Given the description of an element on the screen output the (x, y) to click on. 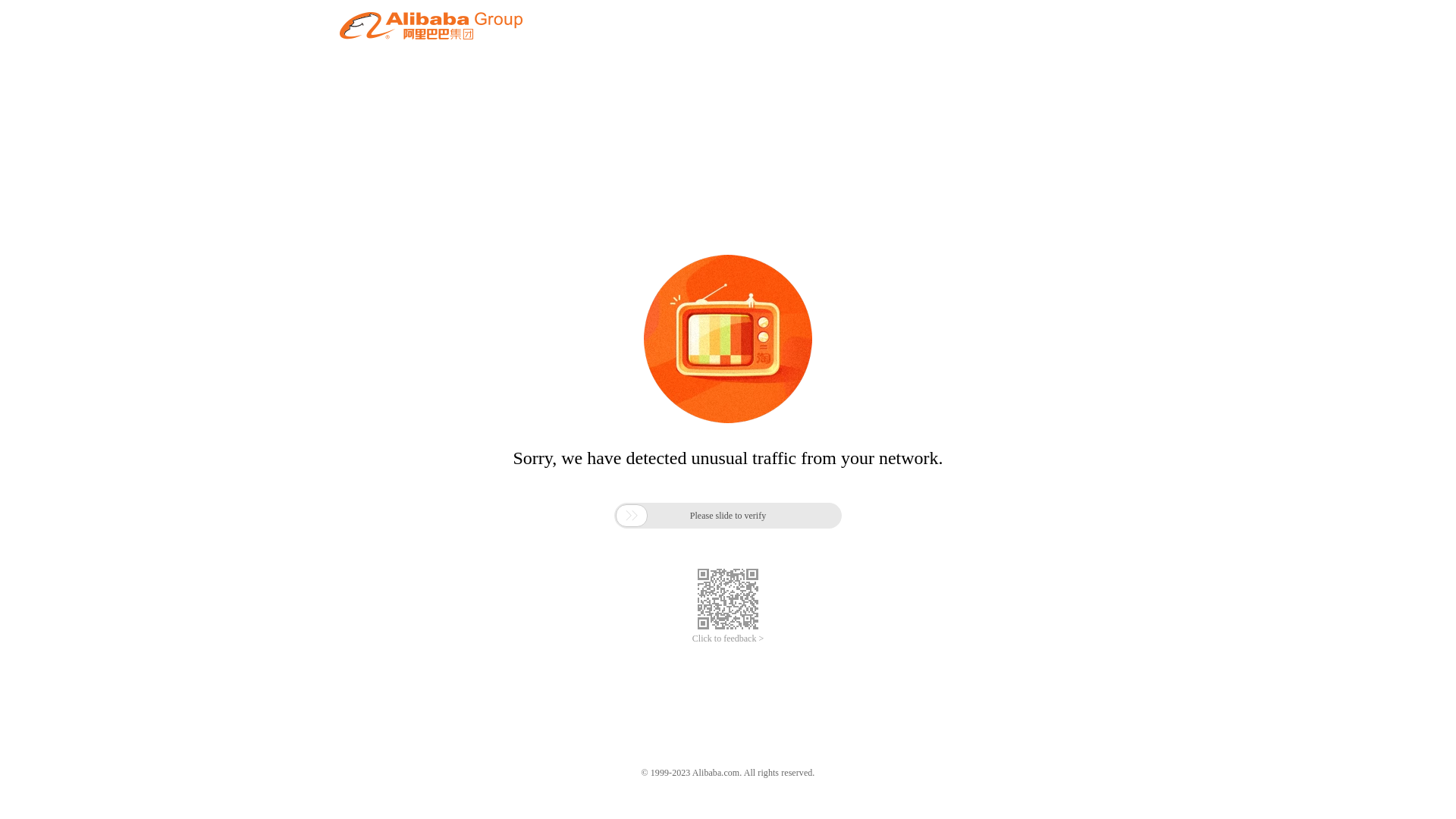
Click to feedback > Element type: text (727, 638)
